Given the description of an element on the screen output the (x, y) to click on. 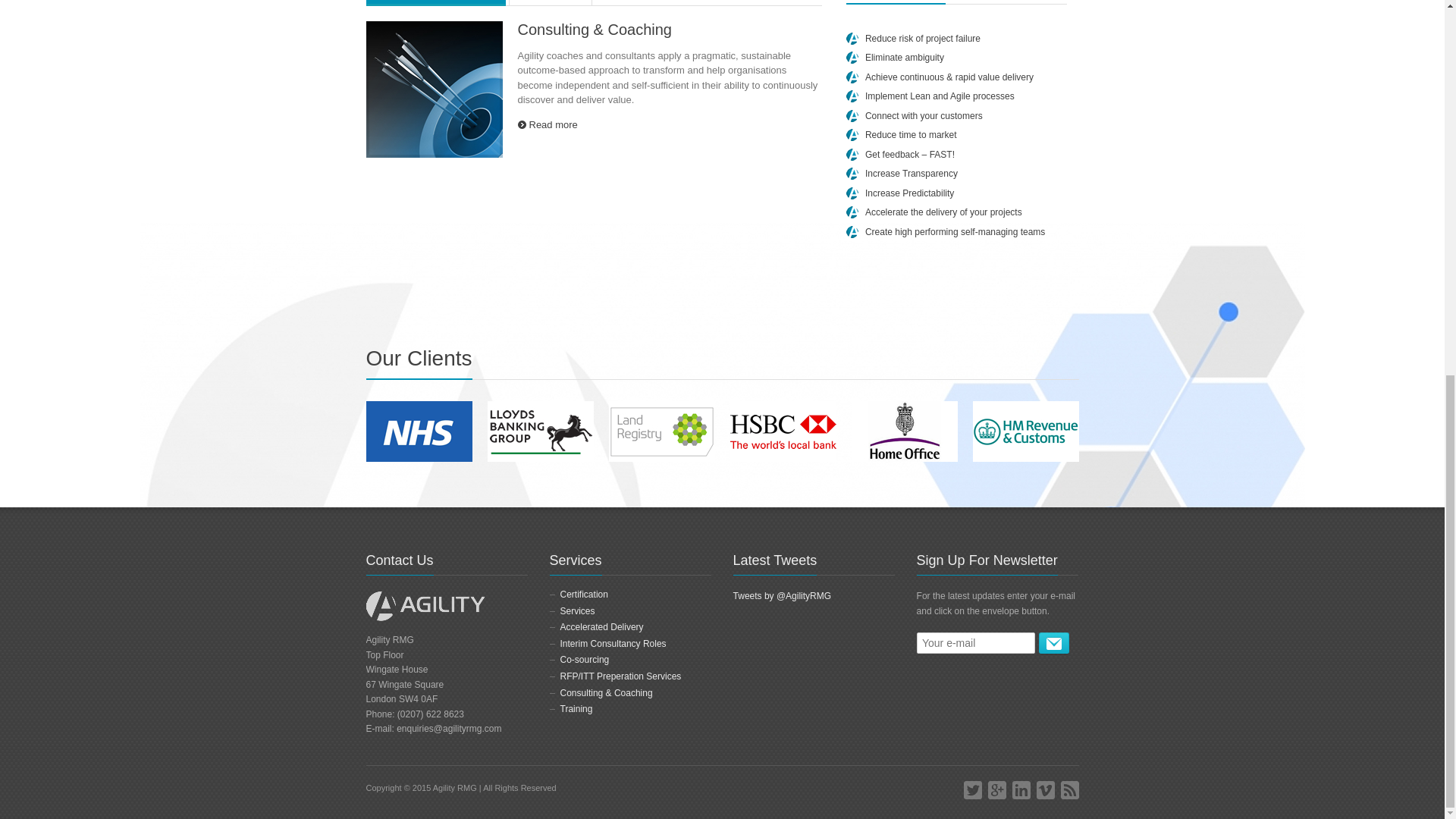
Co Sourcing (550, 2)
Read more (546, 124)
